Given the description of an element on the screen output the (x, y) to click on. 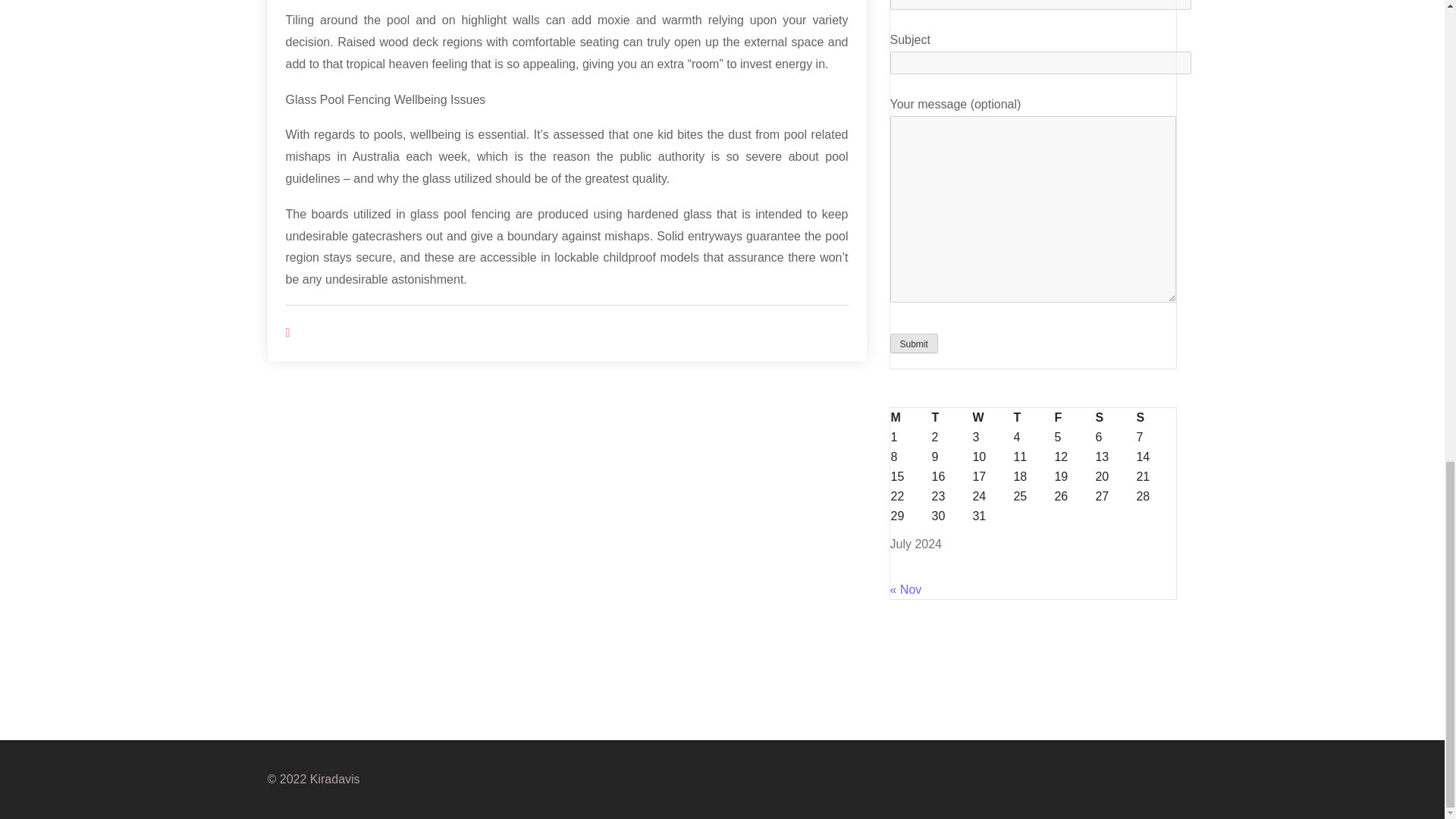
Friday (1073, 417)
Tuesday (950, 417)
Wednesday (991, 417)
Sunday (1155, 417)
Thursday (1031, 417)
Submit (913, 342)
Saturday (1114, 417)
Submit (913, 342)
Monday (910, 417)
